Given the description of an element on the screen output the (x, y) to click on. 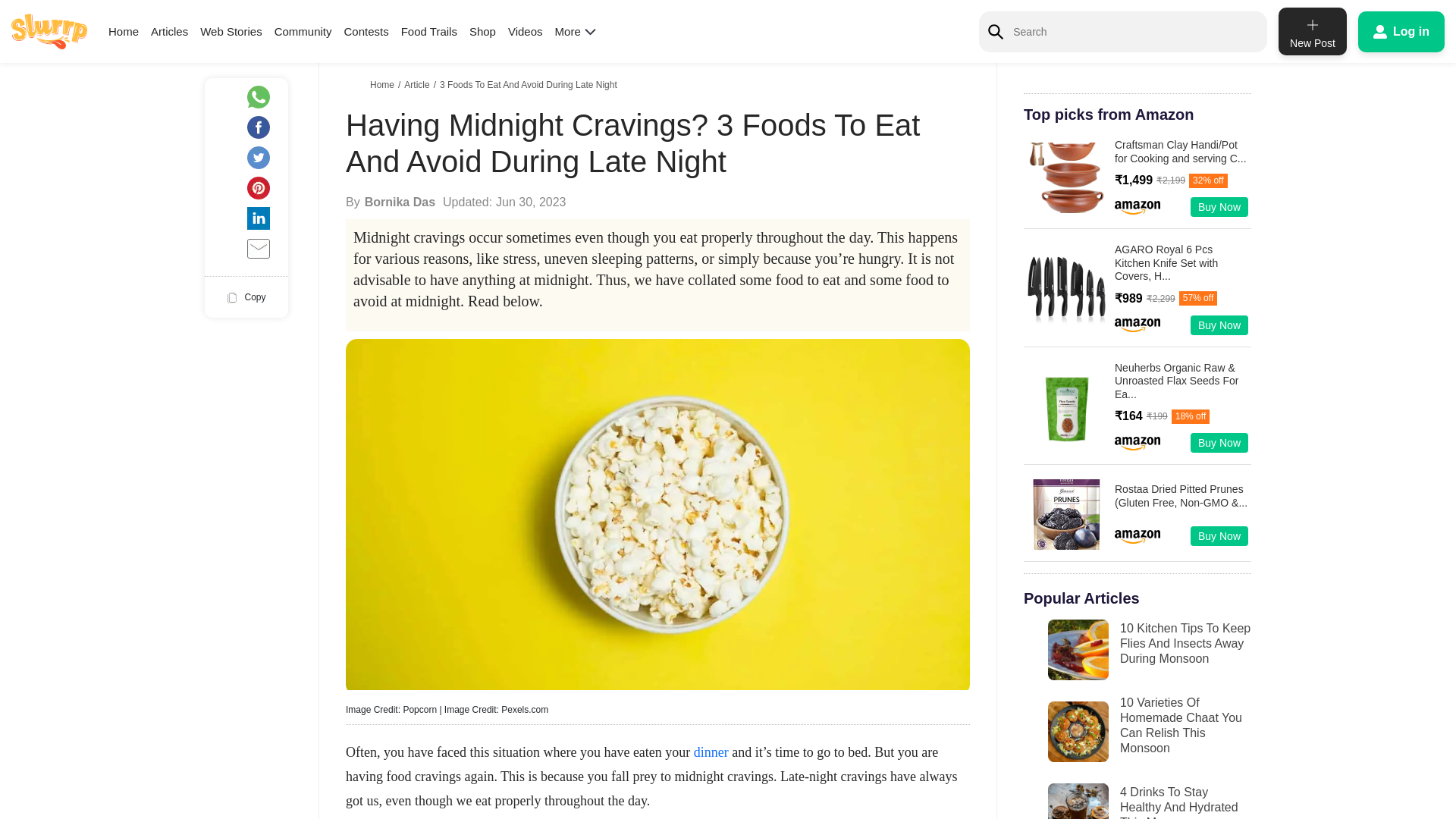
Community (303, 31)
Web Stories (231, 31)
Contests (365, 31)
Articles (169, 31)
Shop (482, 31)
user login (1401, 30)
Log in (1401, 30)
Food Trails (429, 31)
Home (122, 31)
Videos (525, 31)
New Post (1312, 31)
